Given the description of an element on the screen output the (x, y) to click on. 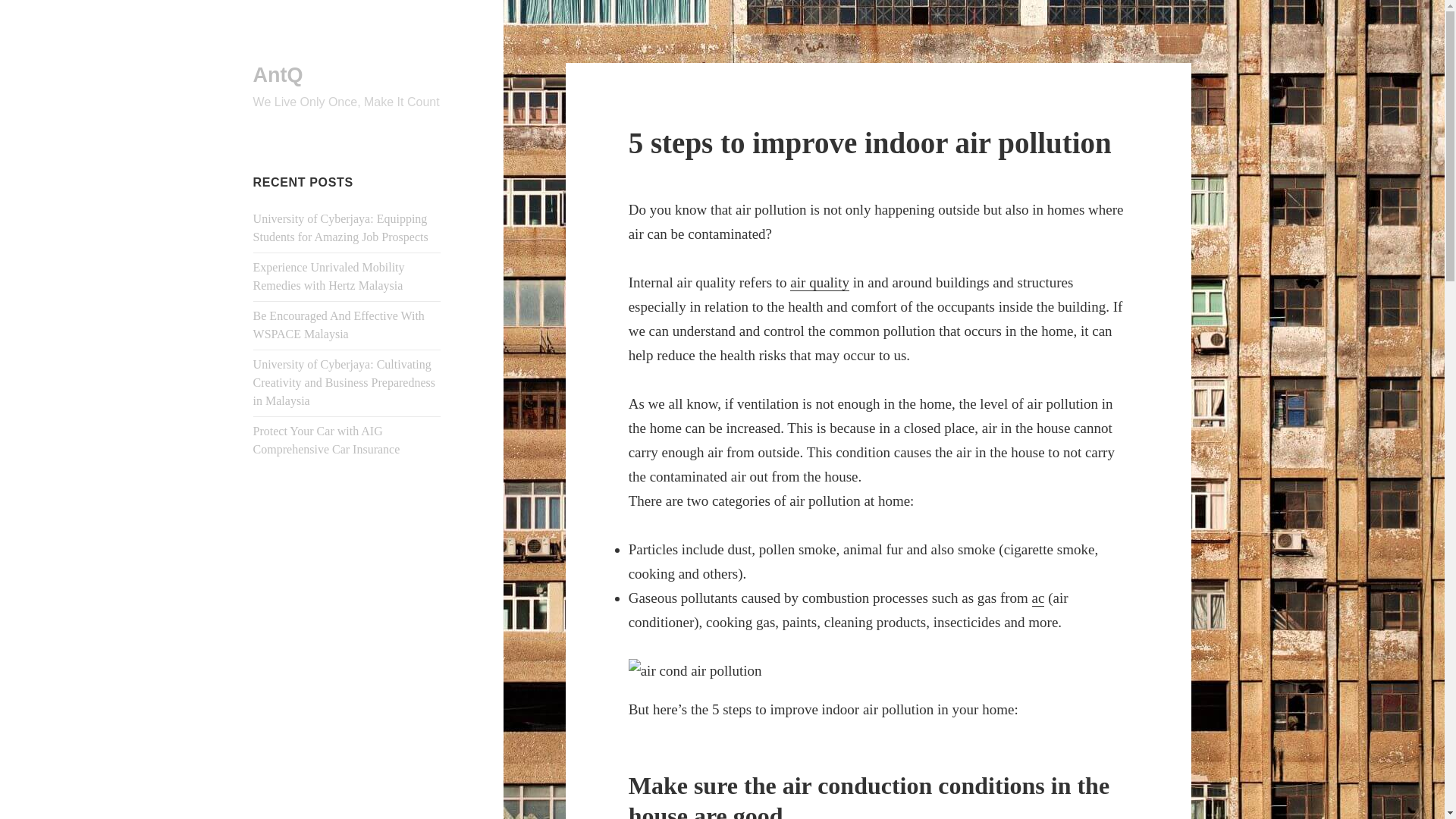
AntQ (277, 74)
Experience Unrivaled Mobility Remedies with Hertz Malaysia (328, 276)
Protect Your Car with AIG Comprehensive Car Insurance (326, 440)
Be Encouraged And Effective With WSPACE Malaysia (339, 324)
air quality (819, 282)
